Given the description of an element on the screen output the (x, y) to click on. 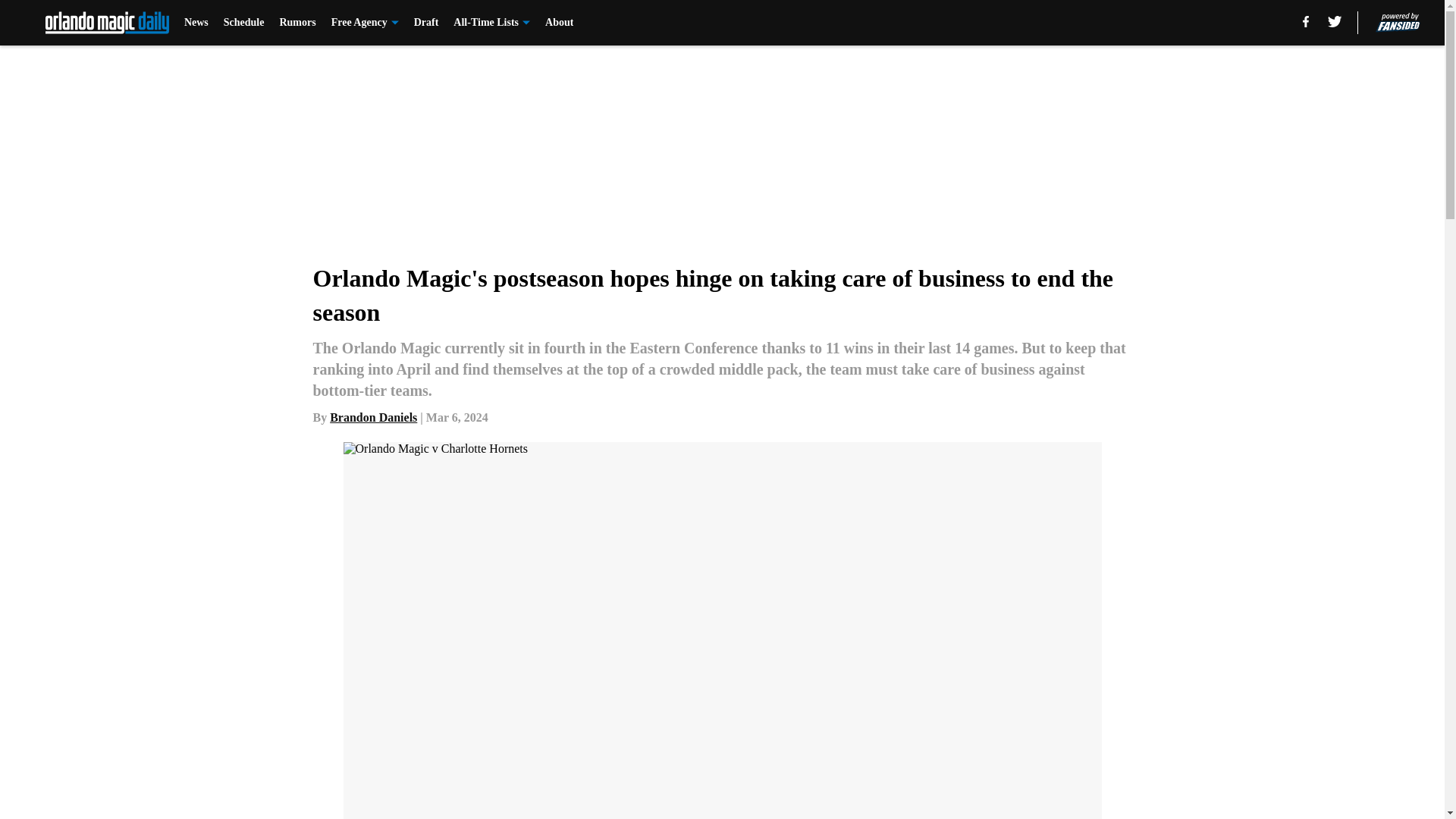
Rumors (297, 22)
Draft (426, 22)
News (196, 22)
About (558, 22)
Schedule (244, 22)
Brandon Daniels (373, 417)
Free Agency (364, 22)
All-Time Lists (490, 22)
